Given the description of an element on the screen output the (x, y) to click on. 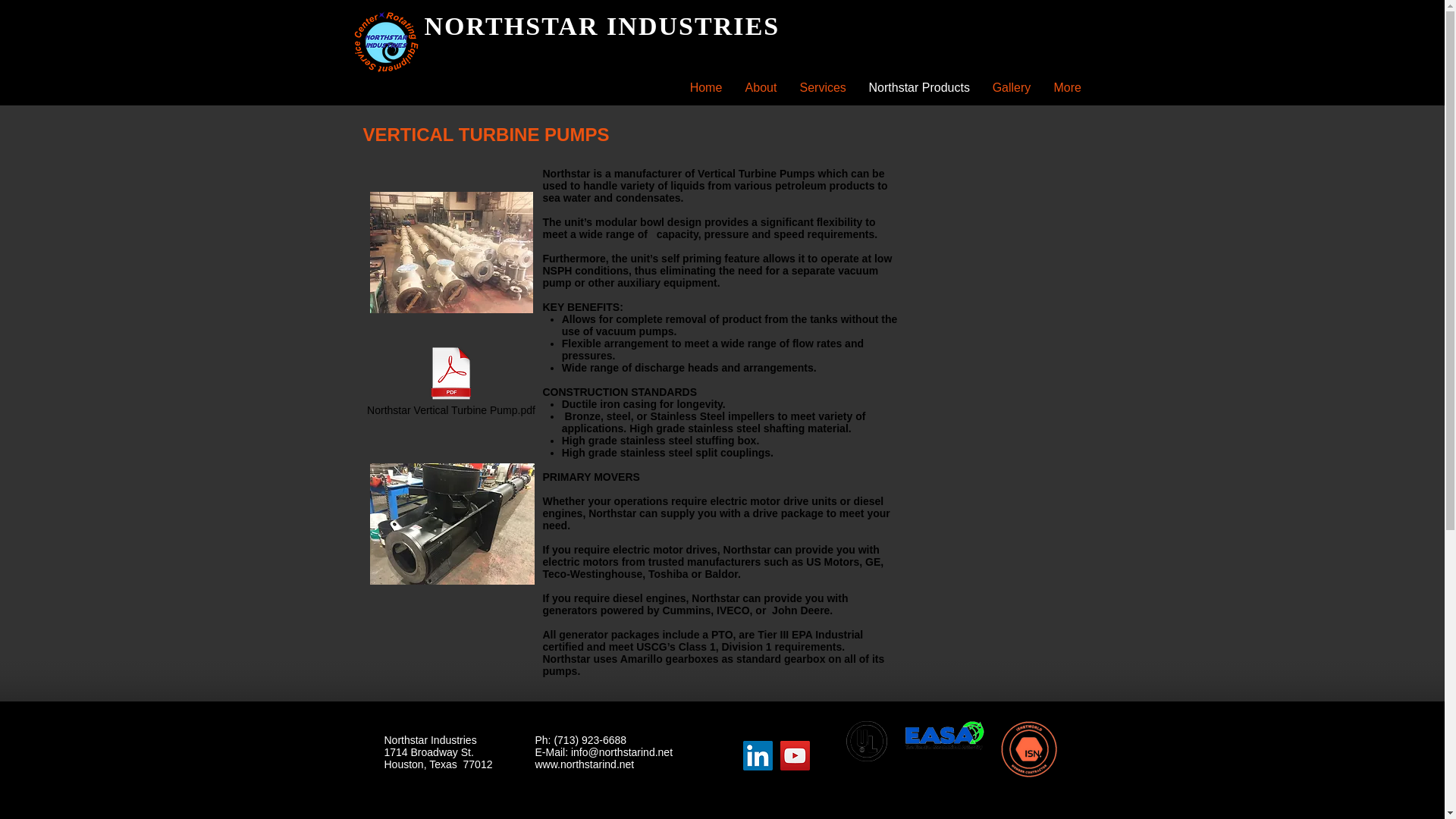
NORTHSTAR INDUSTRIES (602, 26)
Northstar Vertical Turbine Pump.pdf (450, 382)
Services (823, 87)
www.northstarind.net (584, 764)
Home (705, 87)
About (761, 87)
Gallery (1011, 87)
Northstar Products (918, 87)
Northstar Vertical Turbine Pump.pdf (450, 382)
